Given the description of an element on the screen output the (x, y) to click on. 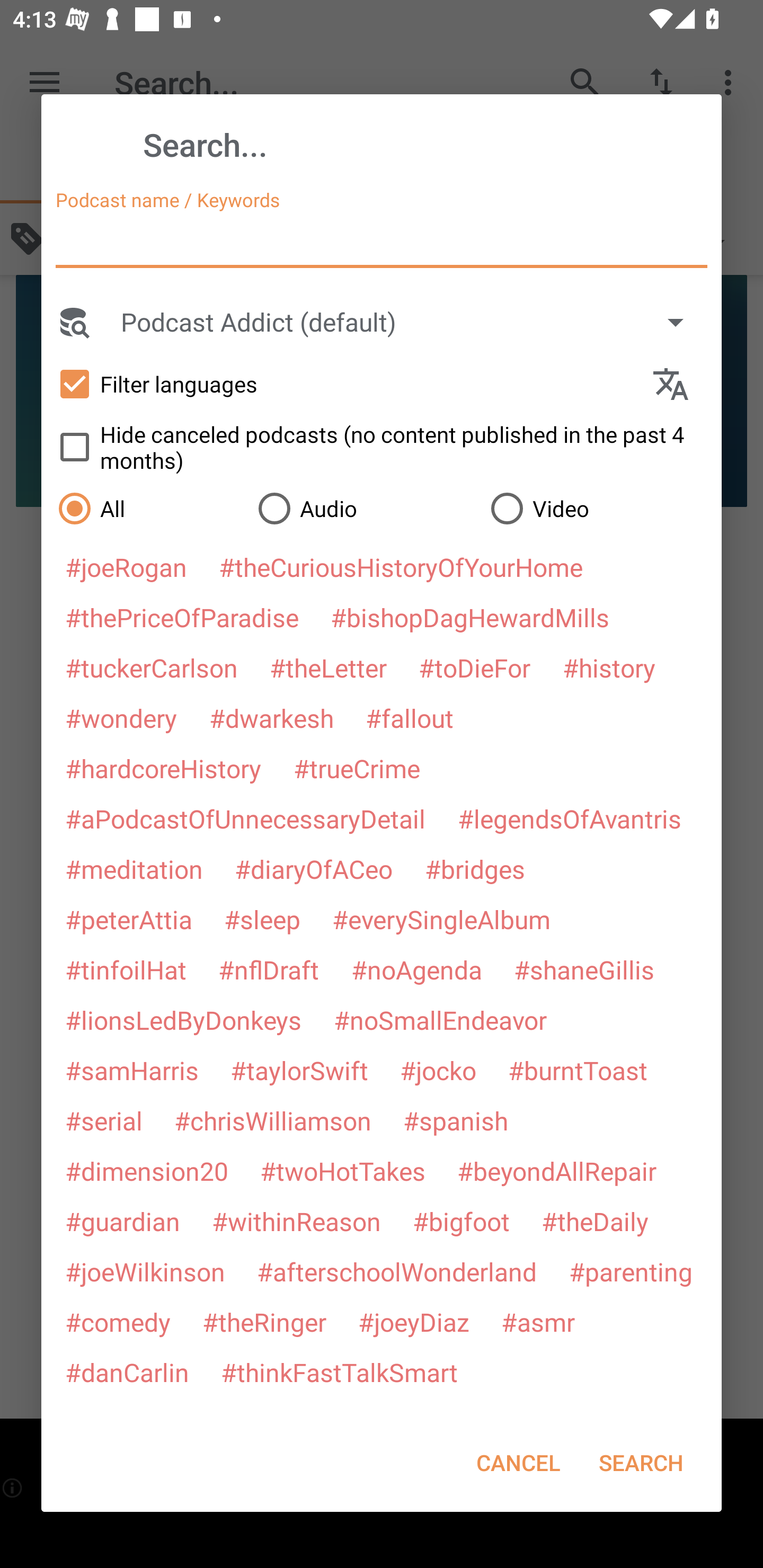
Podcast name / Keywords (381, 242)
Search Engine (73, 321)
Podcast Addict (default) (410, 321)
Languages selection (678, 383)
Filter languages (346, 384)
All (148, 508)
Audio (364, 508)
Video (597, 508)
#joeRogan (125, 567)
#theCuriousHistoryOfYourHome (400, 567)
#thePriceOfParadise (181, 617)
#bishopDagHewardMills (469, 617)
#tuckerCarlson (151, 667)
#theLetter (327, 667)
#toDieFor (474, 667)
#history (609, 667)
#wondery (120, 717)
#dwarkesh (271, 717)
#fallout (409, 717)
#hardcoreHistory (162, 768)
#trueCrime (356, 768)
#aPodcastOfUnnecessaryDetail (244, 818)
#legendsOfAvantris (569, 818)
#meditation (133, 868)
#diaryOfACeo (313, 868)
#bridges (474, 868)
#peterAttia (128, 918)
#sleep (262, 918)
#everySingleAlbum (440, 918)
#tinfoilHat (125, 968)
#nflDraft (268, 968)
#noAgenda (416, 968)
#shaneGillis (584, 968)
#lionsLedByDonkeys (183, 1019)
#noSmallEndeavor (440, 1019)
#samHarris (131, 1070)
#taylorSwift (299, 1070)
#jocko (437, 1070)
#burntToast (577, 1070)
#serial (103, 1120)
#chrisWilliamson (272, 1120)
#spanish (455, 1120)
#dimension20 (146, 1171)
#twoHotTakes (342, 1171)
#beyondAllRepair (556, 1171)
#guardian (122, 1221)
#withinReason (296, 1221)
#bigfoot (460, 1221)
#theDaily (594, 1221)
#joeWilkinson (144, 1271)
#afterschoolWonderland (397, 1271)
#parenting (630, 1271)
#comedy (117, 1321)
#theRinger (264, 1321)
#joeyDiaz (413, 1321)
#asmr (537, 1321)
#danCarlin (126, 1371)
#thinkFastTalkSmart (339, 1371)
CANCEL (518, 1462)
SEARCH (640, 1462)
